Given the description of an element on the screen output the (x, y) to click on. 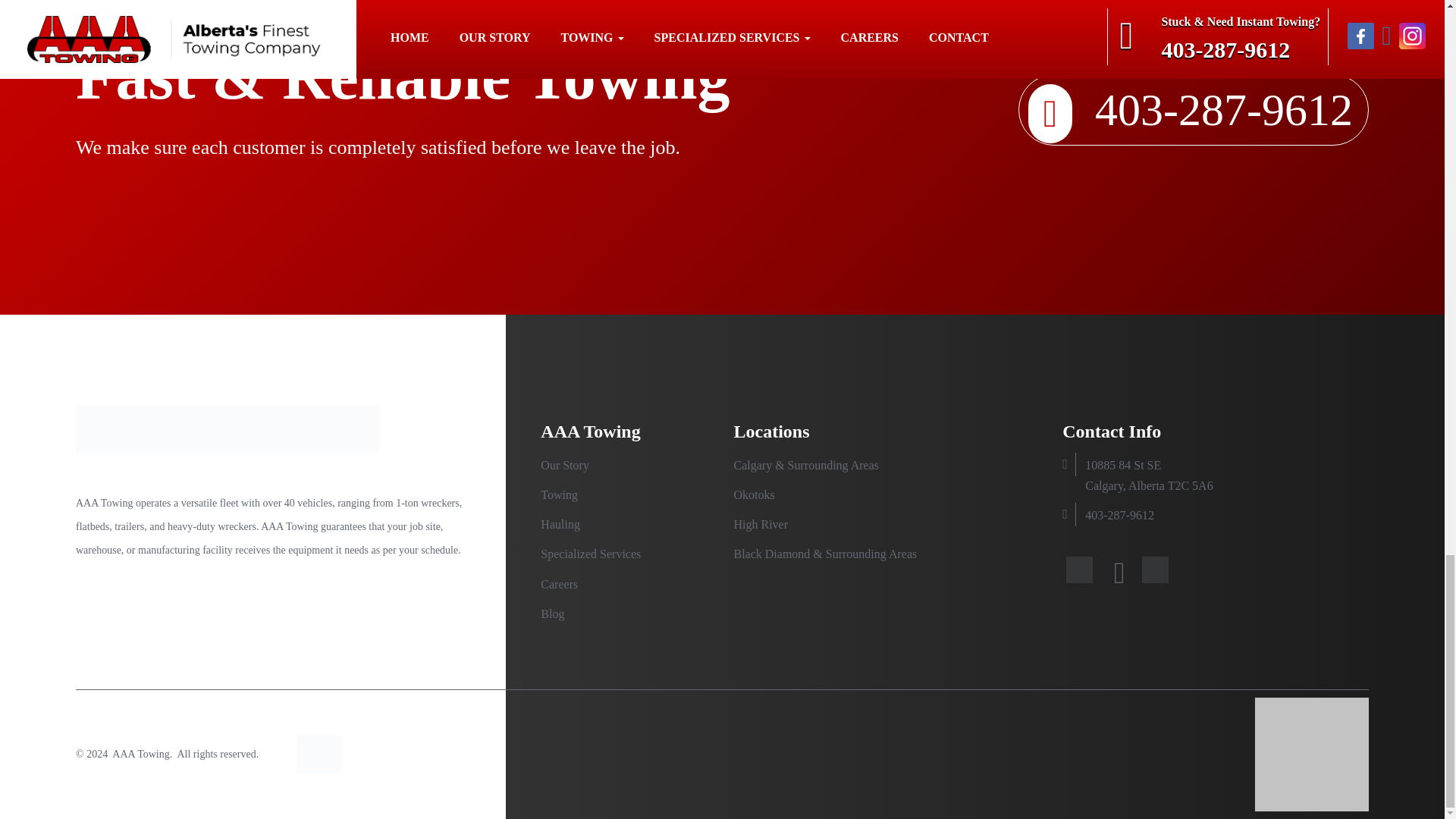
403-287-9612 (1192, 109)
Hauling (559, 523)
Specialized Services (590, 553)
Our Story (564, 464)
Careers (559, 584)
403-287-9612 (1119, 514)
Blog (552, 613)
Towing (559, 494)
